Given the description of an element on the screen output the (x, y) to click on. 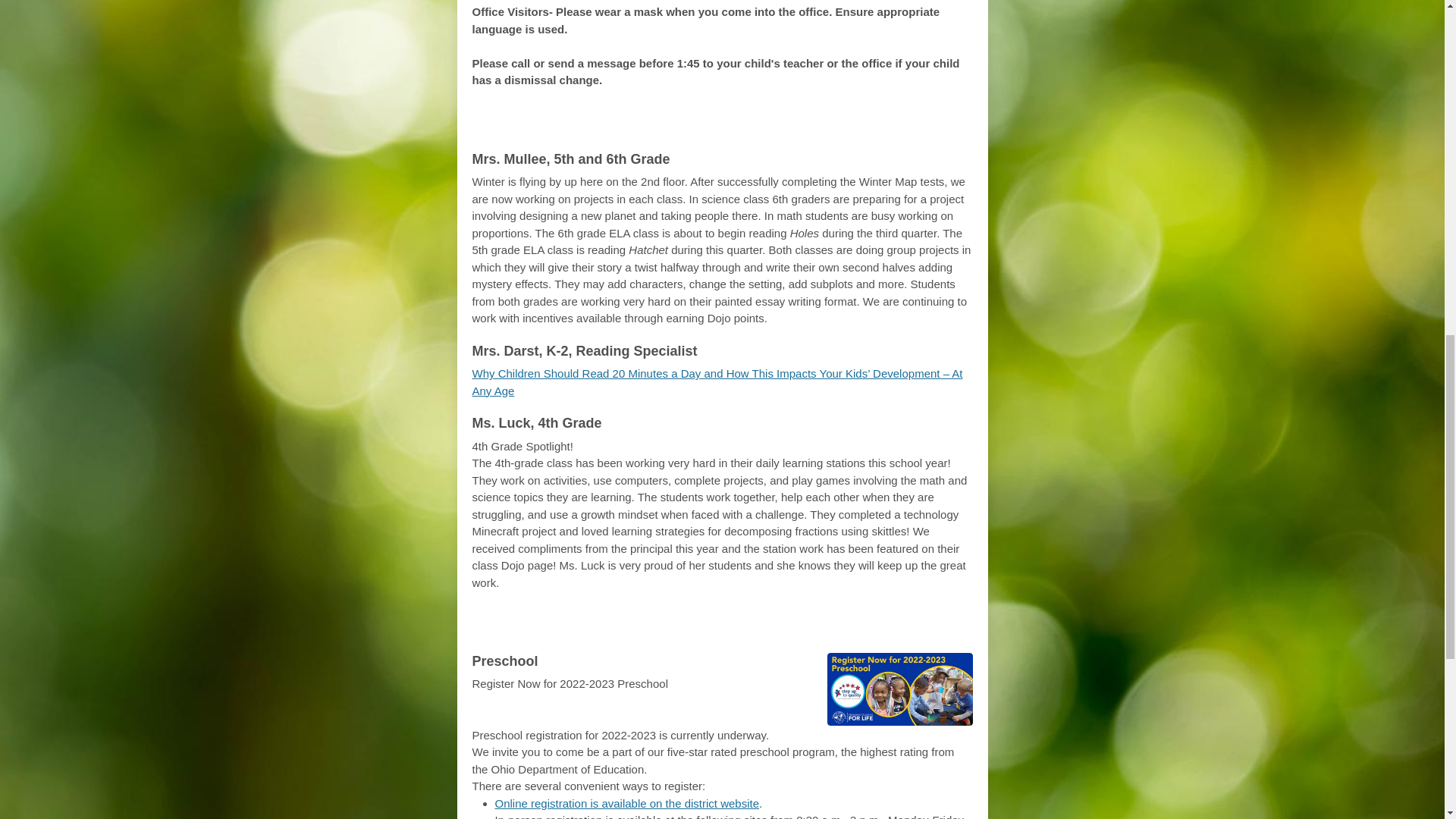
News (756, 624)
Our (763, 122)
District (695, 624)
from (717, 122)
Articles (657, 122)
Online registration is available on the district website (626, 802)
Staff (804, 122)
